Given the description of an element on the screen output the (x, y) to click on. 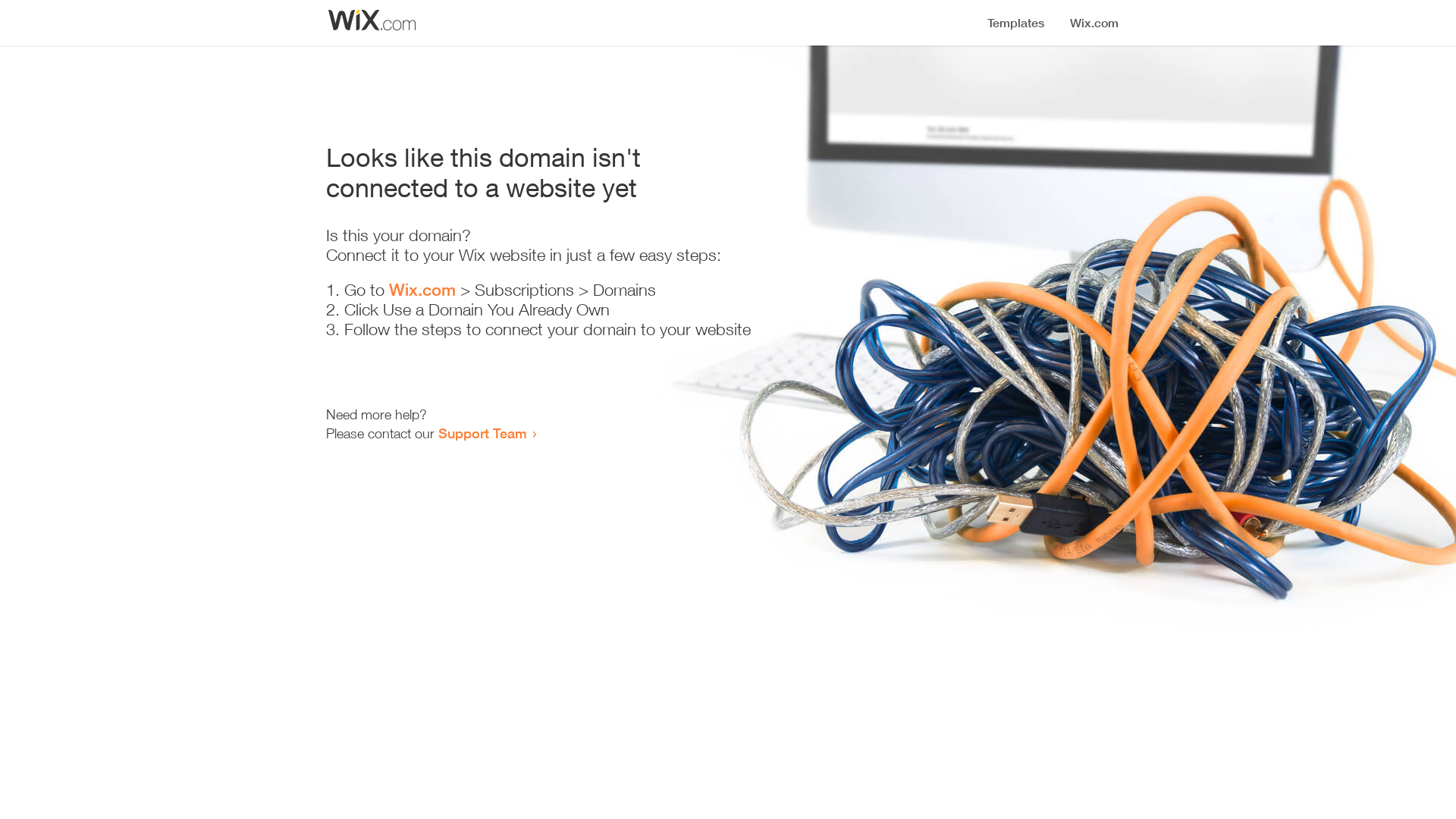
Support Team Element type: text (482, 432)
Wix.com Element type: text (422, 289)
